Given the description of an element on the screen output the (x, y) to click on. 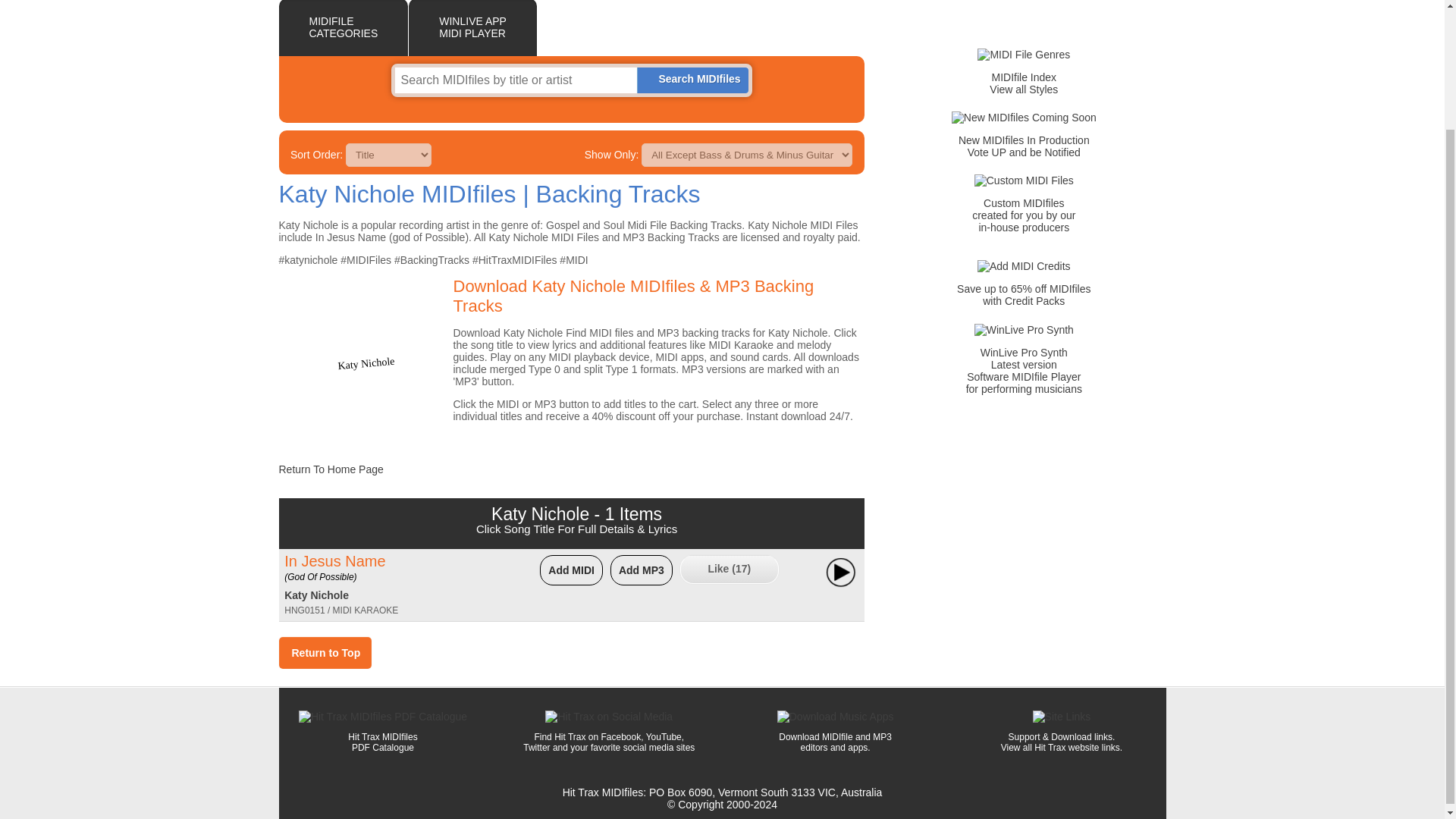
Katy Nichole MIDI backing Track (316, 594)
MIDI File Catalogue (344, 28)
Return to Top (1023, 146)
Search MIDIfiles (325, 653)
MIDI File Genres (698, 78)
Katy Nichole MIDI Files Backing Tracks (1023, 54)
Return to Home Page (571, 194)
Katy Nichole MIDI Files (331, 469)
Return To Home Page (365, 357)
